Given the description of an element on the screen output the (x, y) to click on. 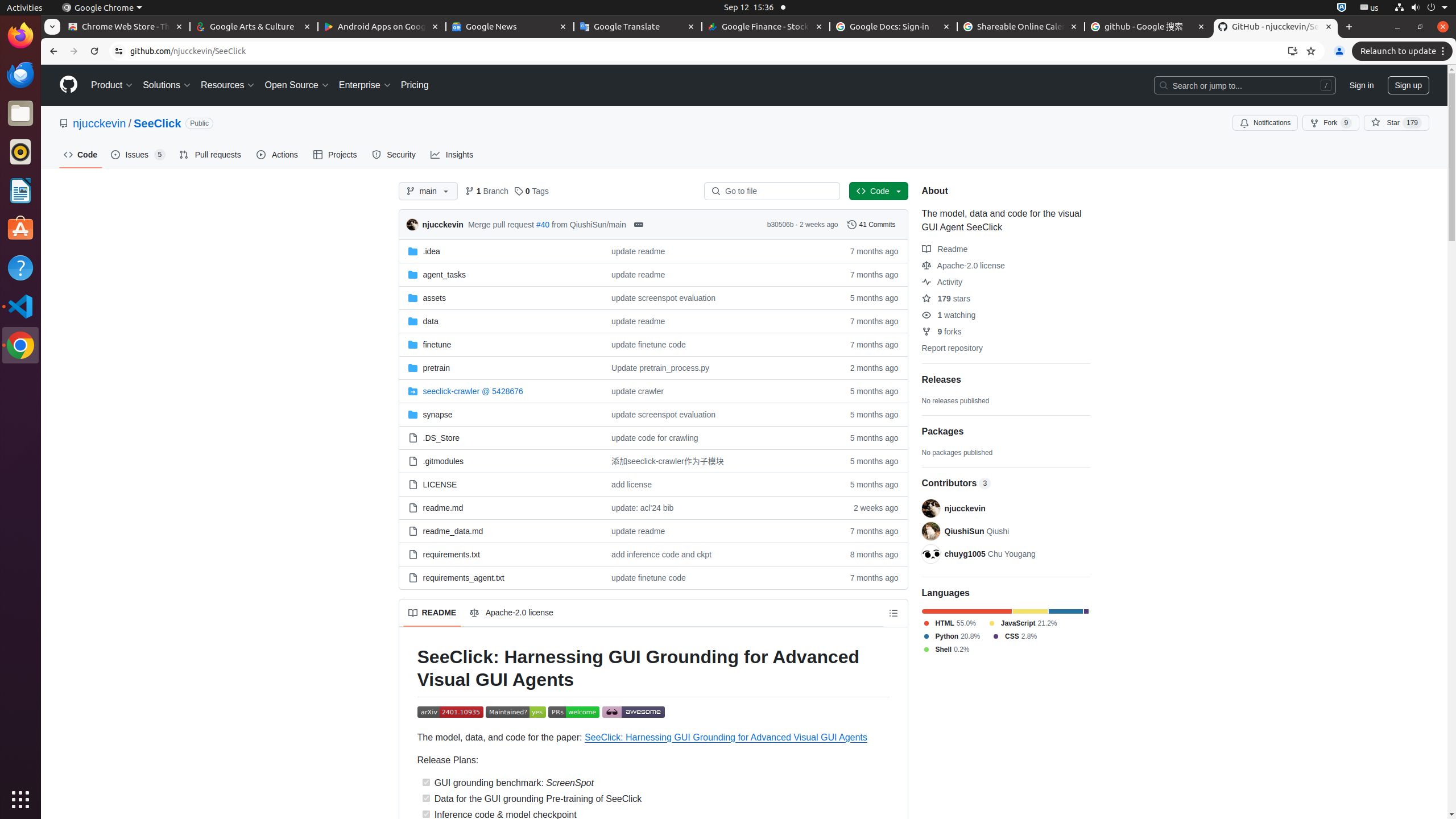
Releases Element type: link (941, 379)
readme_data.md, (File) Element type: link (452, 530)
readme_data.md, (File) Element type: table-cell (500, 530)
Awesome Element type: link (632, 712)
Sign up Element type: link (1408, 85)
